Given the description of an element on the screen output the (x, y) to click on. 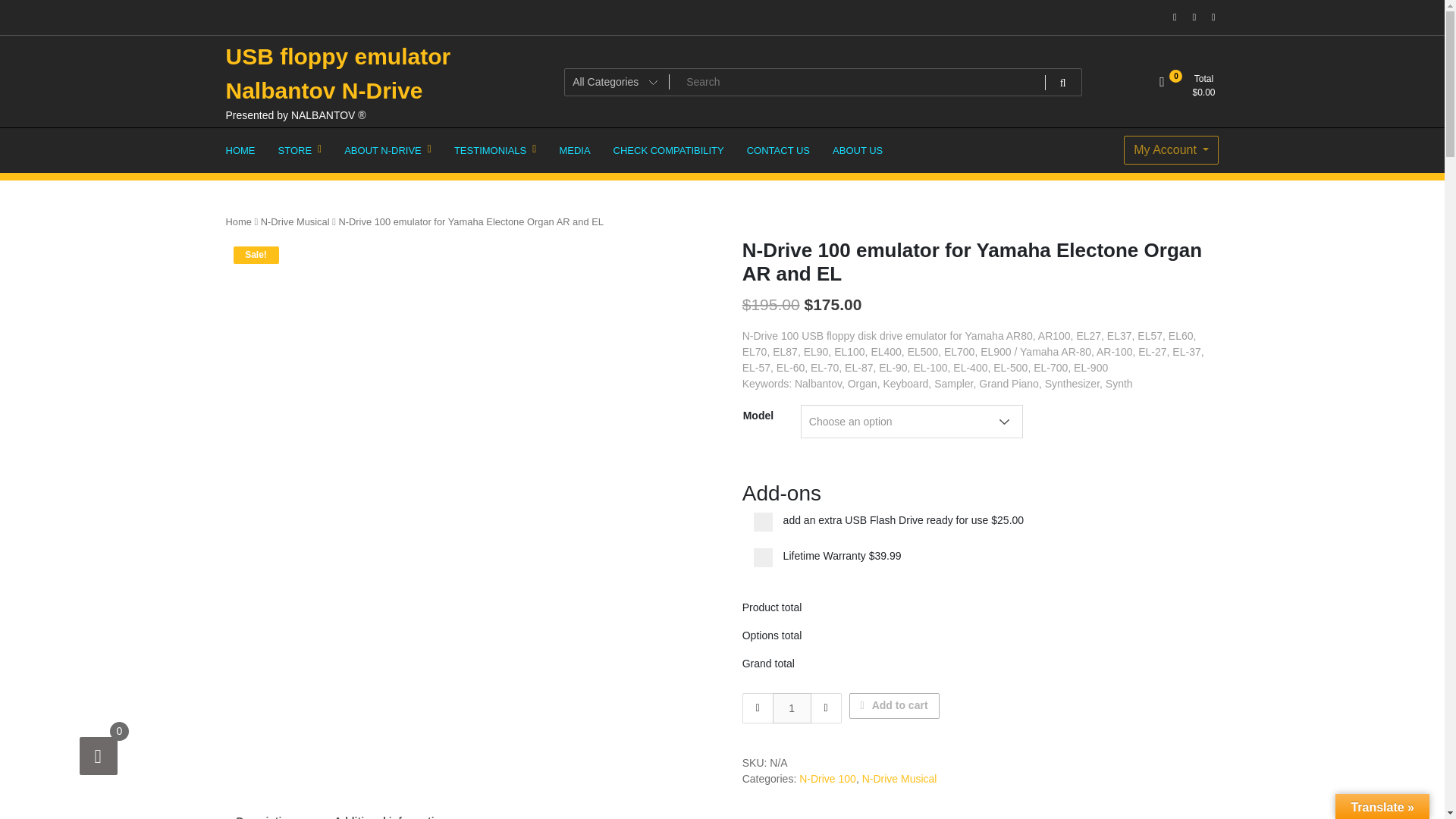
ABOUT N-DRIVE (387, 150)
CHECK COMPATIBILITY (668, 150)
Search for: (822, 81)
TESTIMONIALS (494, 150)
My Account (1171, 149)
HOME (240, 150)
MEDIA (574, 150)
CONTACT US (778, 150)
1 (791, 707)
USB floppy emulator Nalbantov N-Drive (338, 73)
ABOUT US (857, 150)
STORE (299, 150)
